Given the description of an element on the screen output the (x, y) to click on. 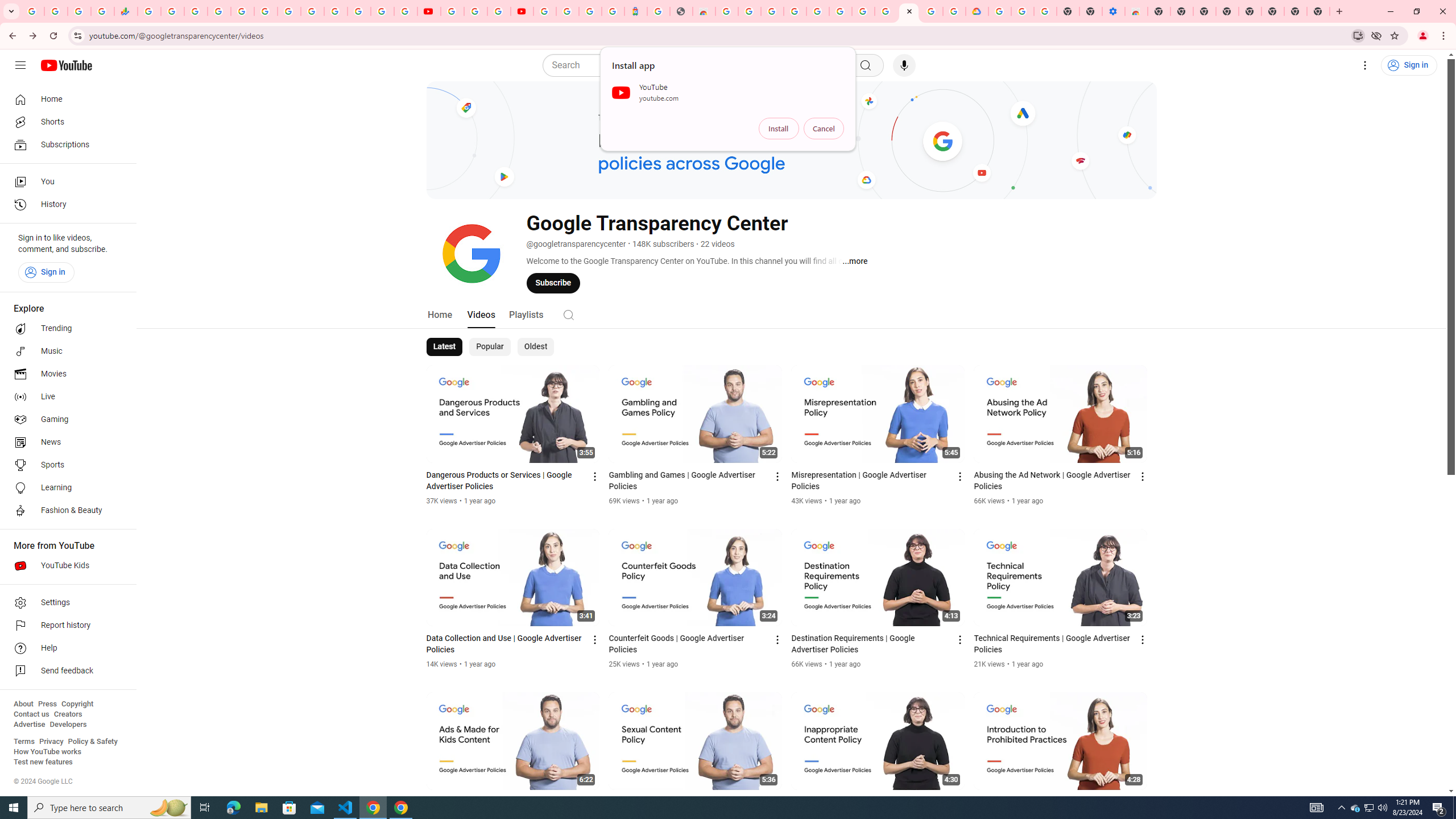
Policy & Safety (91, 741)
Create your Google Account (498, 11)
Google Account Help (1022, 11)
Subscriptions (64, 144)
Settings (1365, 65)
Sign in - Google Accounts (381, 11)
Search with your voice (903, 65)
Terms (23, 741)
Learning (64, 487)
